Given the description of an element on the screen output the (x, y) to click on. 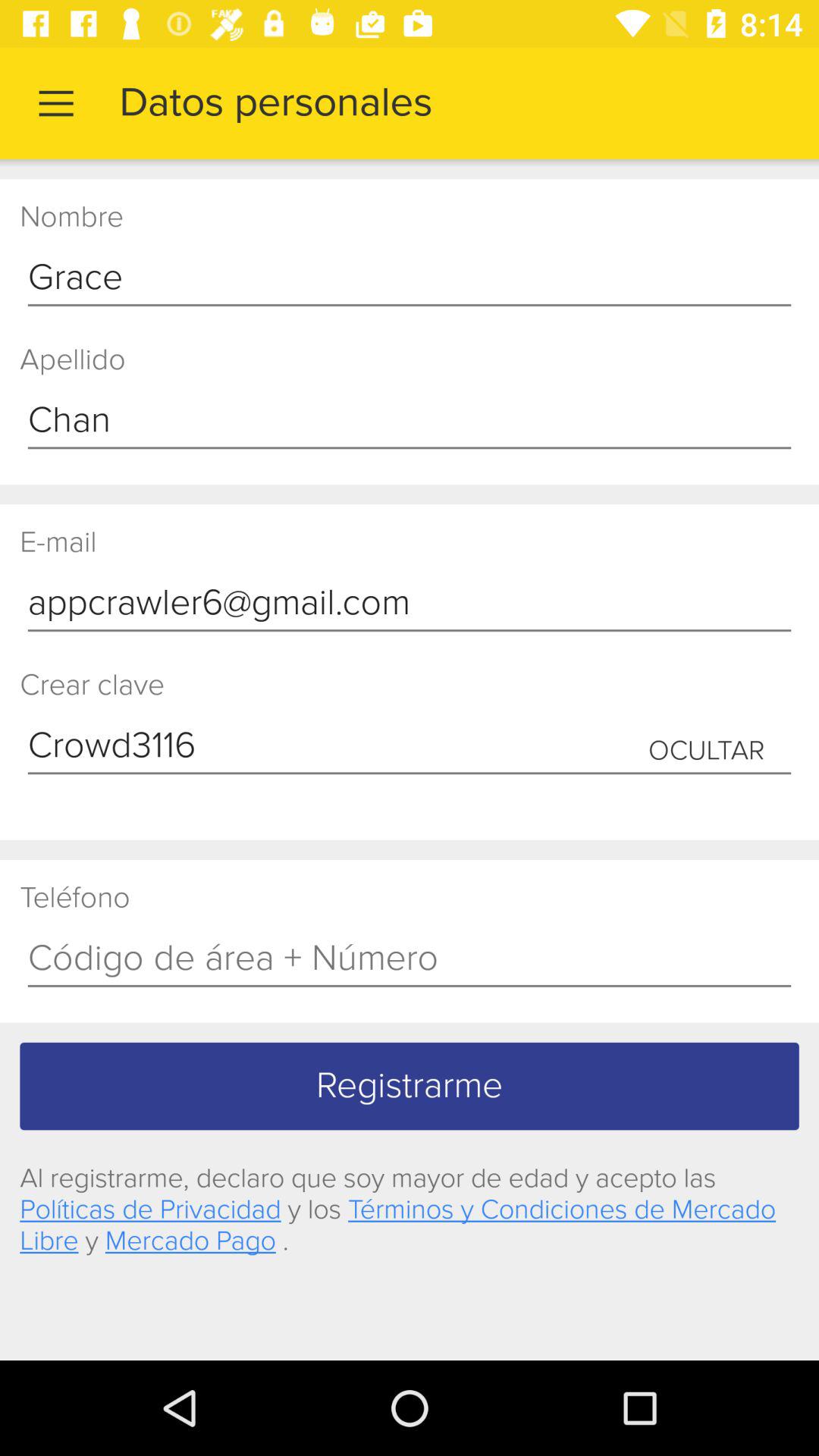
select the item next to the datos personales item (55, 103)
